Given the description of an element on the screen output the (x, y) to click on. 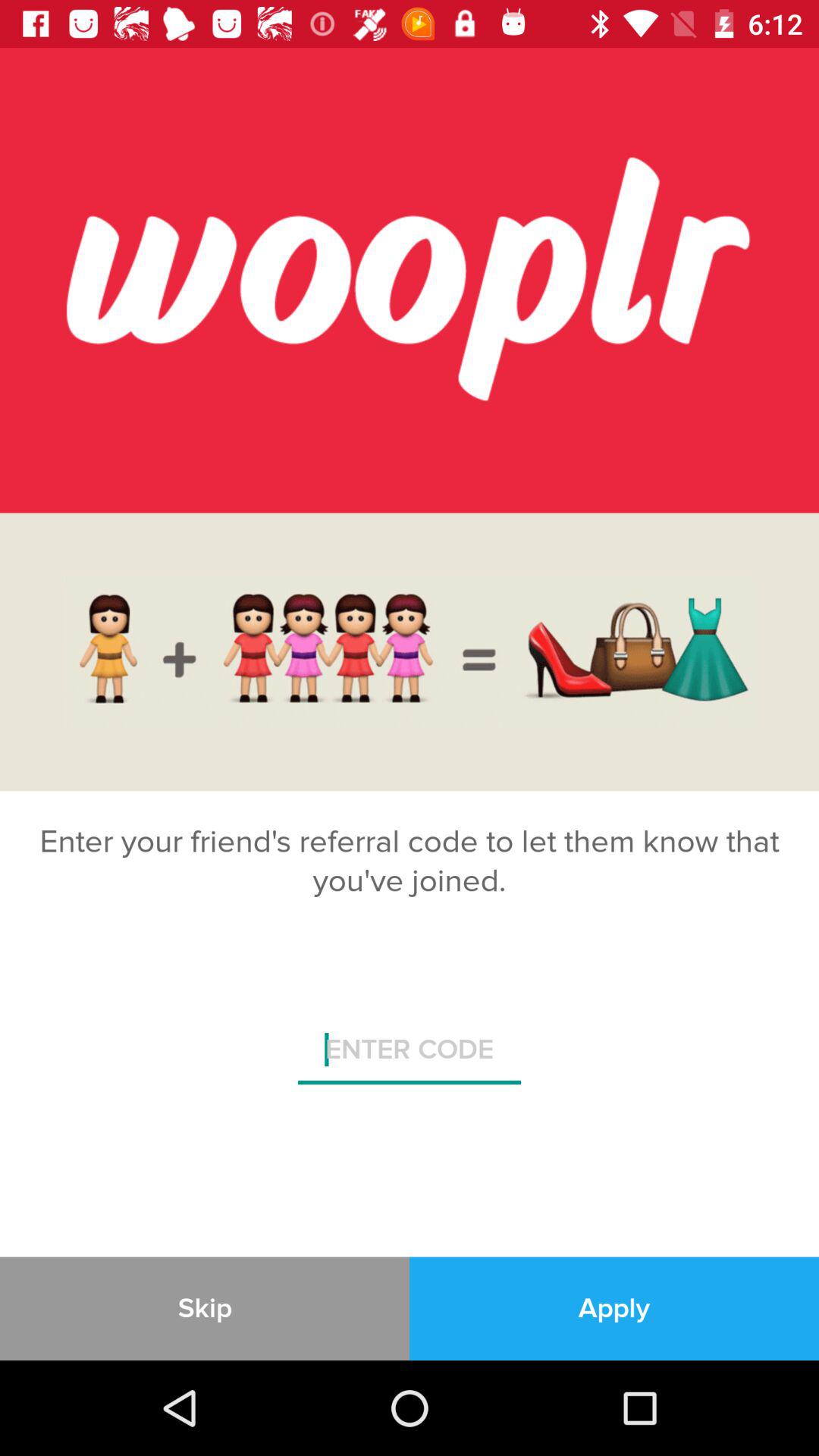
turn off the icon next to the apply icon (204, 1308)
